Given the description of an element on the screen output the (x, y) to click on. 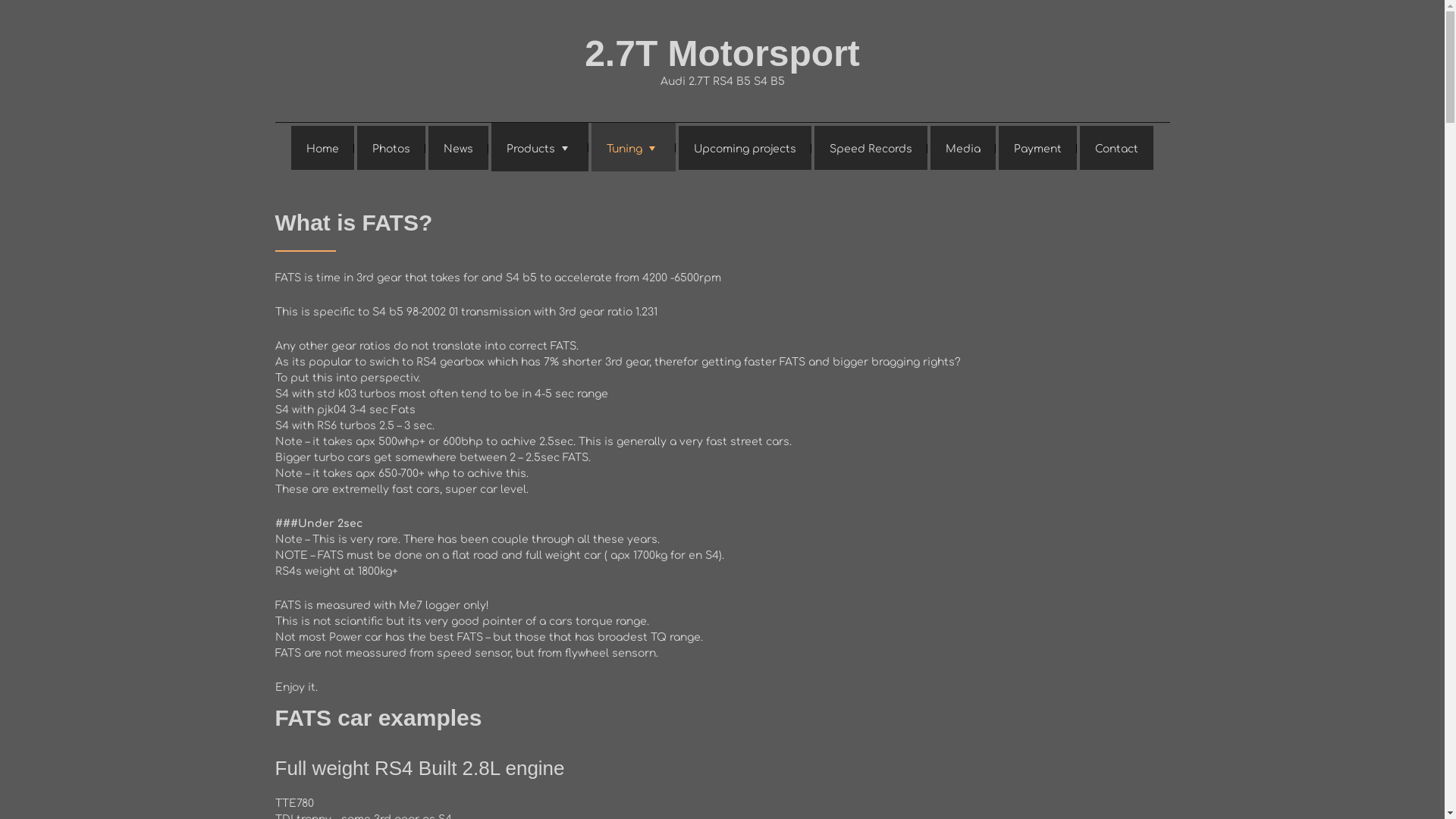
Payment Element type: text (1037, 147)
Contact Element type: text (1116, 147)
Media Element type: text (962, 147)
Upcoming projects Element type: text (744, 147)
News Element type: text (458, 147)
Home Element type: text (322, 147)
Speed Records Element type: text (870, 147)
2.7T Motorsport Element type: text (721, 53)
Photos Element type: text (391, 147)
Tuning Element type: text (633, 146)
Products Element type: text (539, 146)
